Given the description of an element on the screen output the (x, y) to click on. 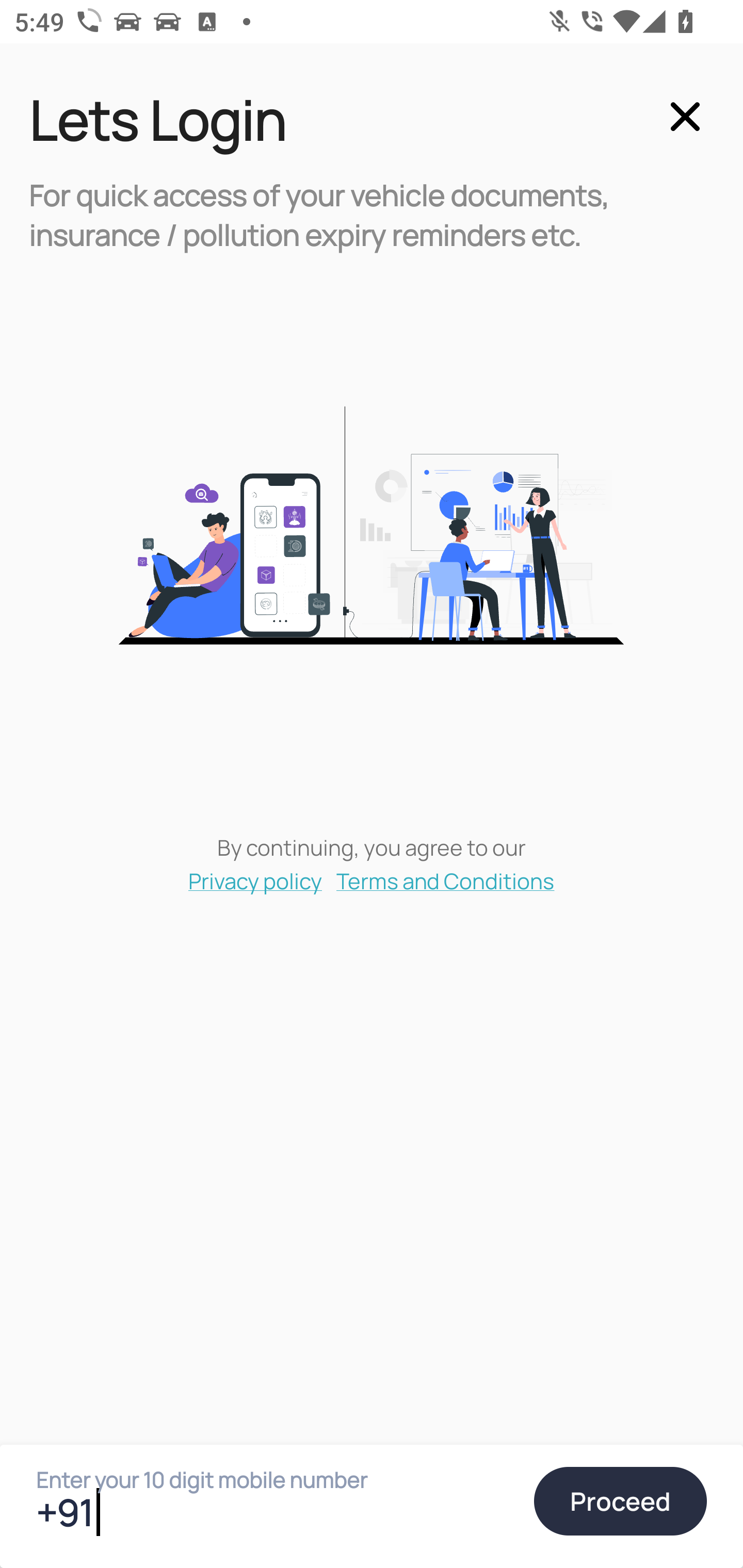
Privacy policy (254, 880)
Terms and Conditions (445, 880)
Proceed (620, 1501)
Enter your 10 digit mobile number (275, 1512)
